Given the description of an element on the screen output the (x, y) to click on. 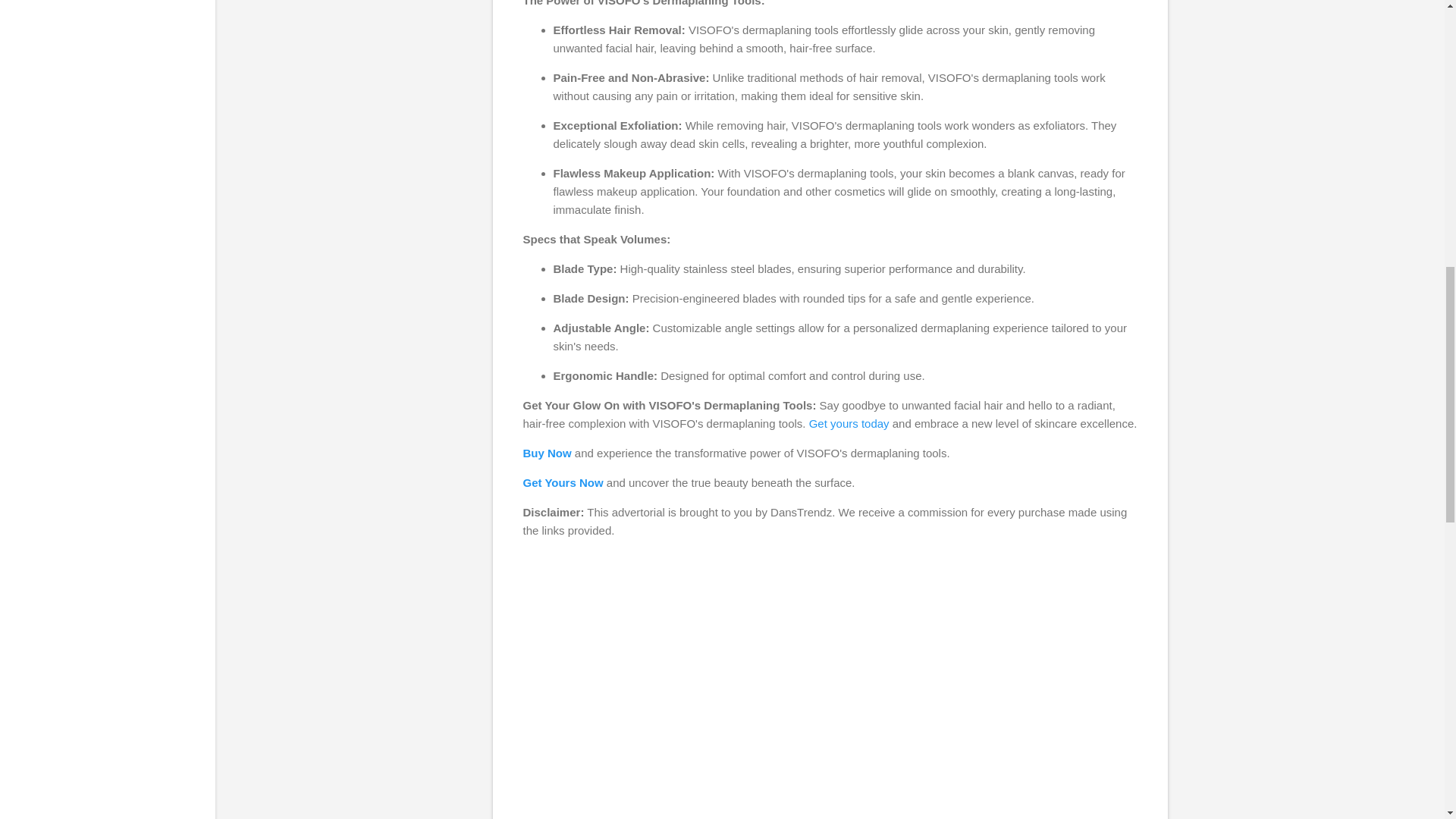
Get yours today (849, 422)
Buy Now (547, 452)
Get Yours Now (563, 481)
